Given the description of an element on the screen output the (x, y) to click on. 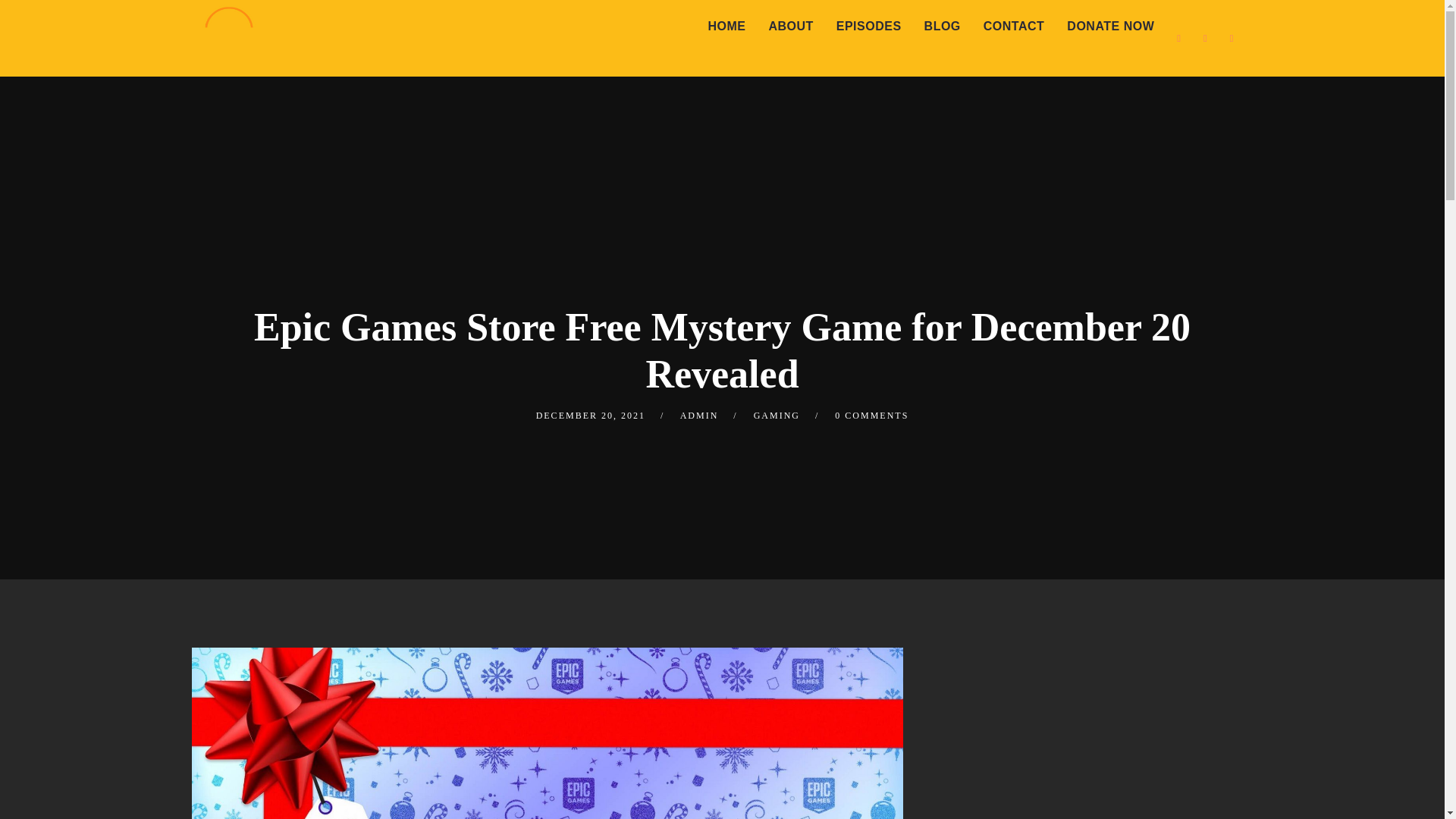
BLOG (942, 26)
HOME (726, 26)
EPISODES (868, 26)
GAMING (776, 415)
DONATE NOW (1110, 26)
CONTACT (1014, 26)
Gamer Girls Radio (228, 35)
ABOUT (790, 26)
Submit (32, 22)
ADMIN (699, 415)
